Given the description of an element on the screen output the (x, y) to click on. 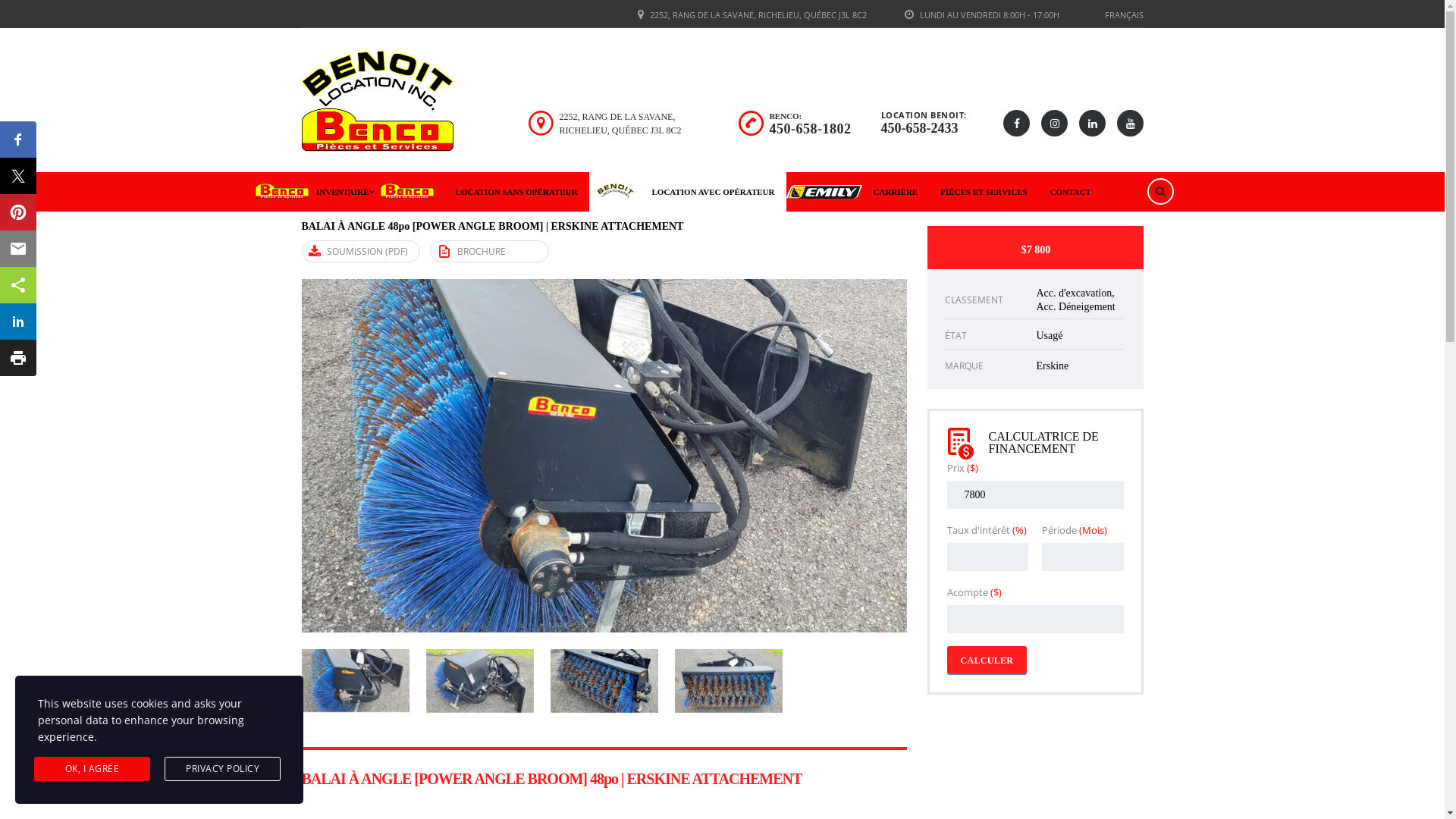
BROCHURE Element type: text (488, 251)
CALCULER Element type: text (986, 659)
OK, I AGREE Element type: text (92, 768)
450-658-1802 Element type: text (809, 128)
CONTACT Element type: text (1070, 191)
SOUMISSION (PDF) Element type: text (360, 251)
Accueil Element type: hover (377, 101)
INVENTAIRE Element type: text (316, 191)
PRIVACY POLICY Element type: text (222, 768)
450-658-2433 Element type: text (919, 127)
